Given the description of an element on the screen output the (x, y) to click on. 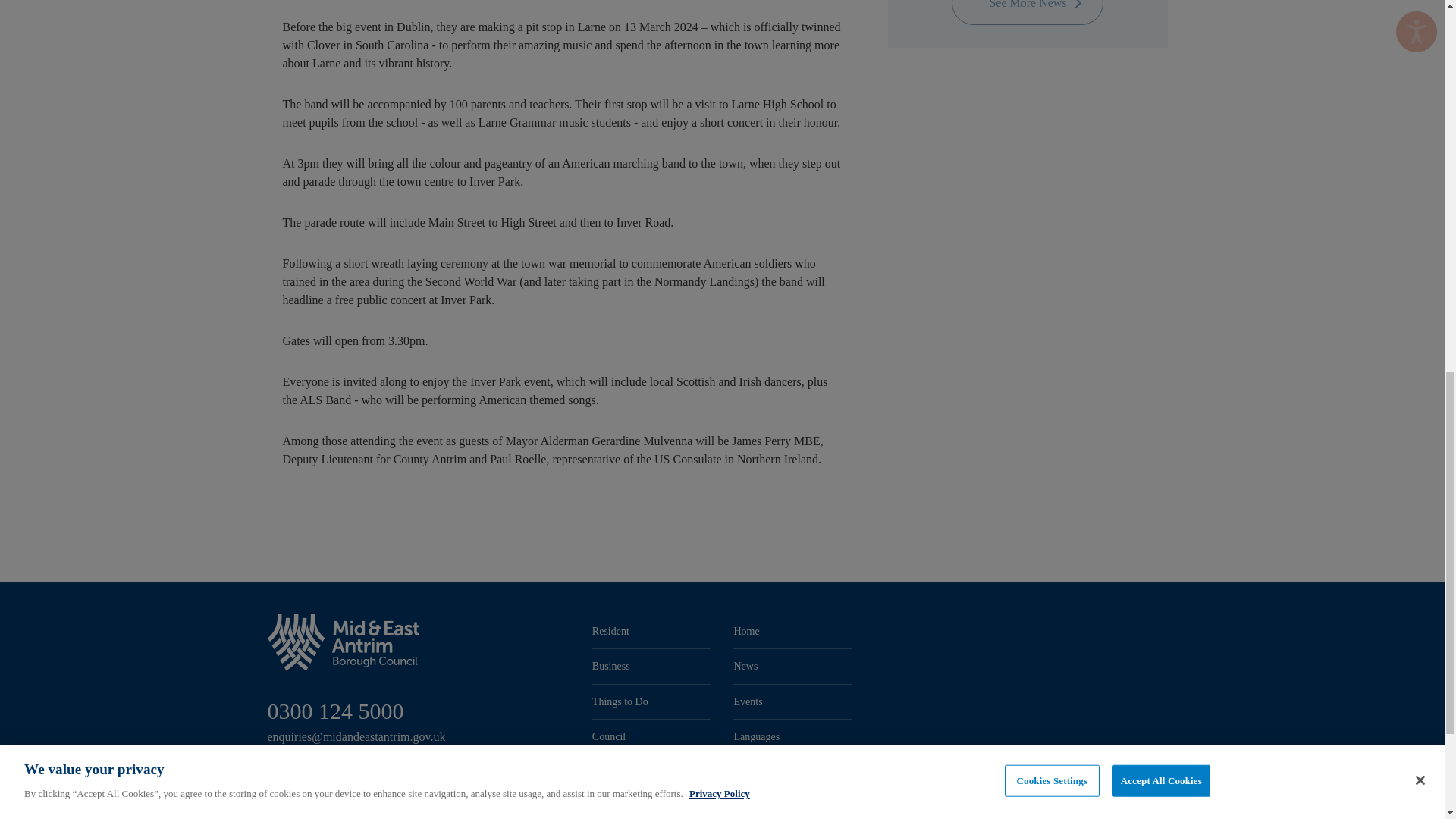
Home (792, 631)
A - Z (651, 771)
Business (651, 666)
Council (651, 736)
Resident (651, 631)
News (792, 666)
Events (792, 701)
See More News (1027, 12)
Contact us (792, 771)
Languages (792, 736)
Things to Do (651, 701)
